Given the description of an element on the screen output the (x, y) to click on. 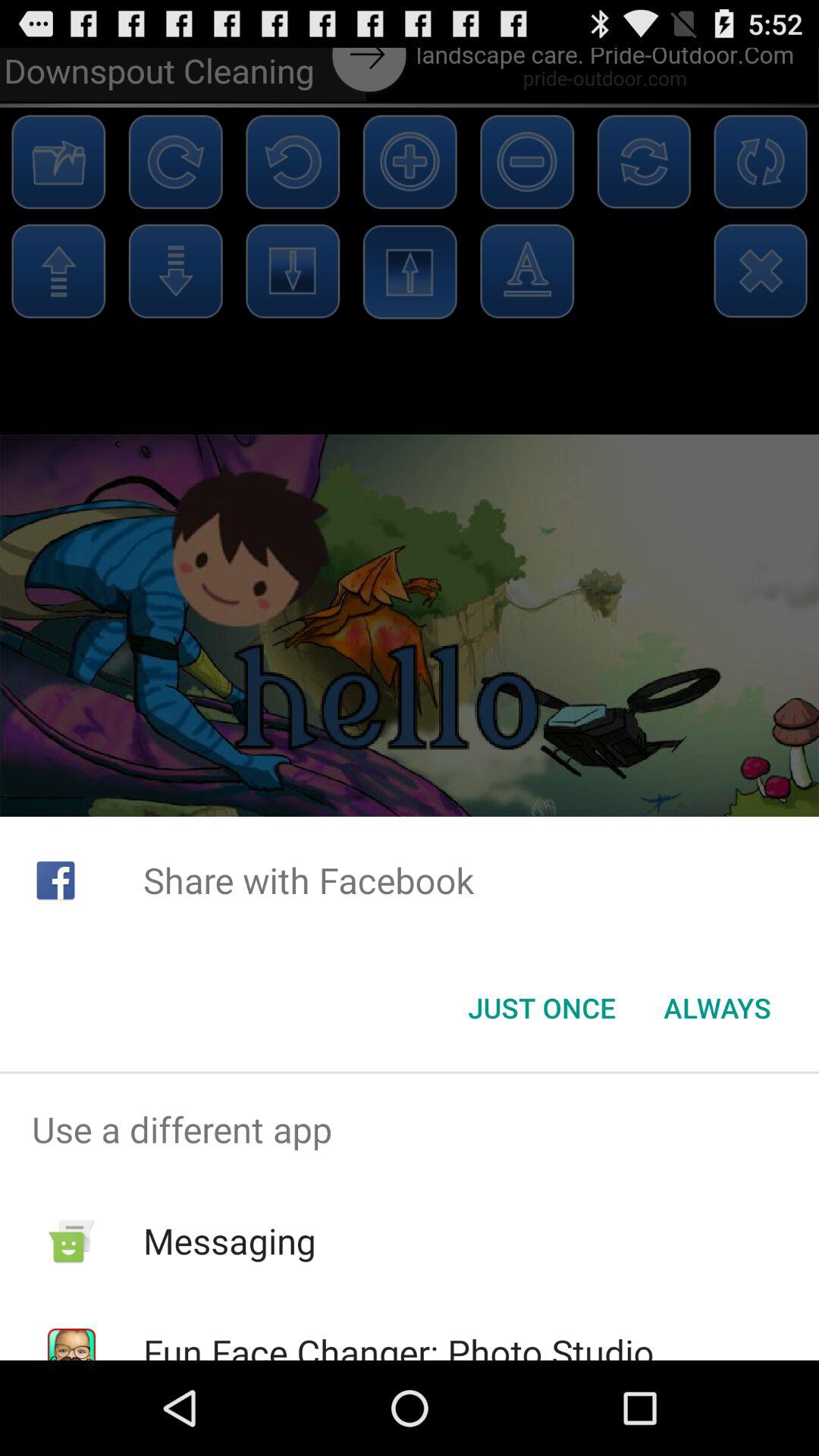
press icon below use a different item (229, 1240)
